Given the description of an element on the screen output the (x, y) to click on. 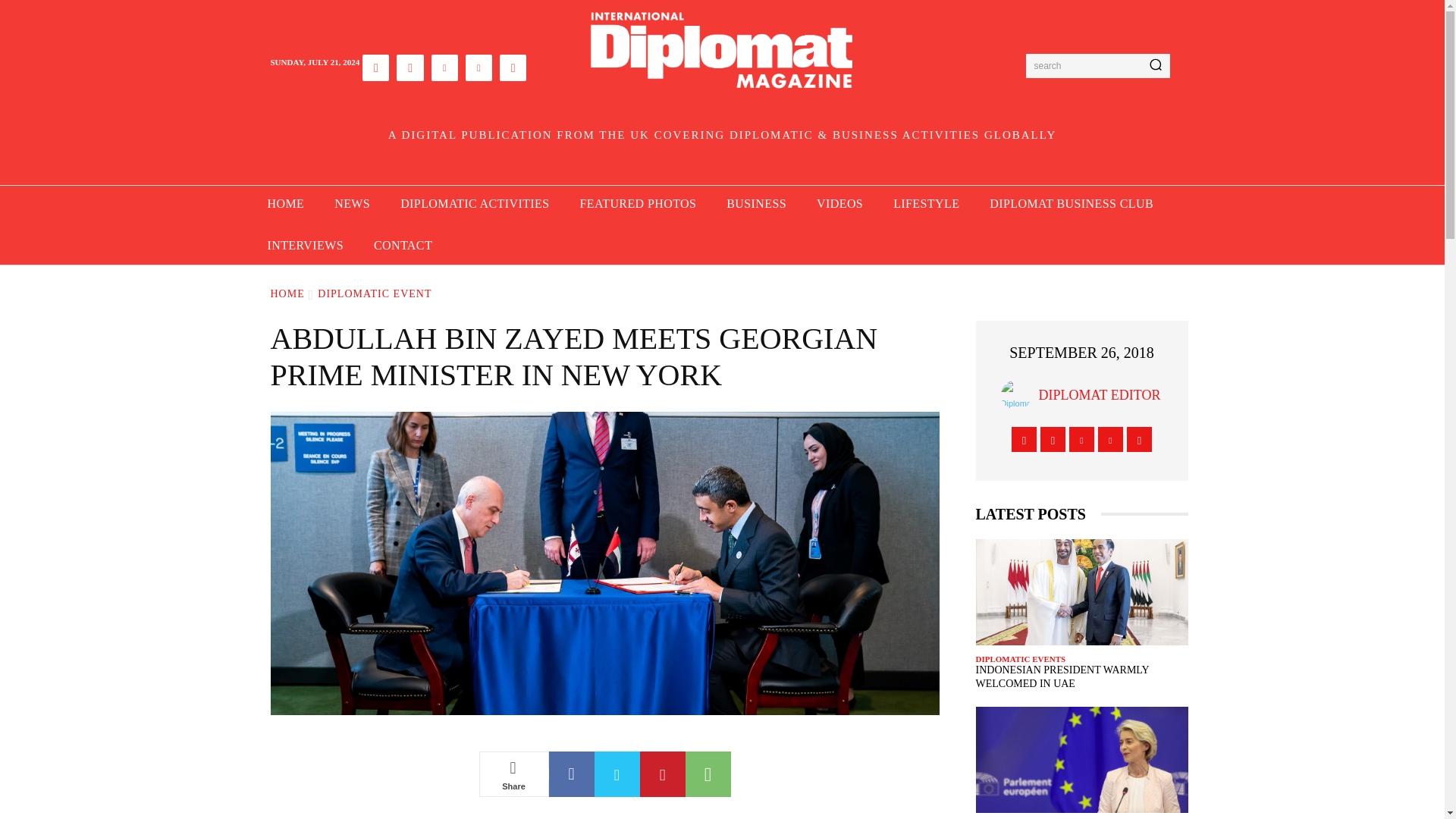
Twitter (617, 773)
DIPLOMATIC ACTIVITIES (474, 204)
Youtube (512, 67)
INTERVIEWS (304, 245)
Facebook (571, 773)
CONTACT (402, 245)
View all posts in Diplomatic Event (373, 294)
DIPLOMAT BUSINESS CLUB (1071, 204)
VIDEOS (839, 204)
BUSINESS (756, 204)
NEWS (351, 204)
HOME (284, 204)
Twitter (478, 67)
Pinterest (662, 773)
Linkedin (444, 67)
